Given the description of an element on the screen output the (x, y) to click on. 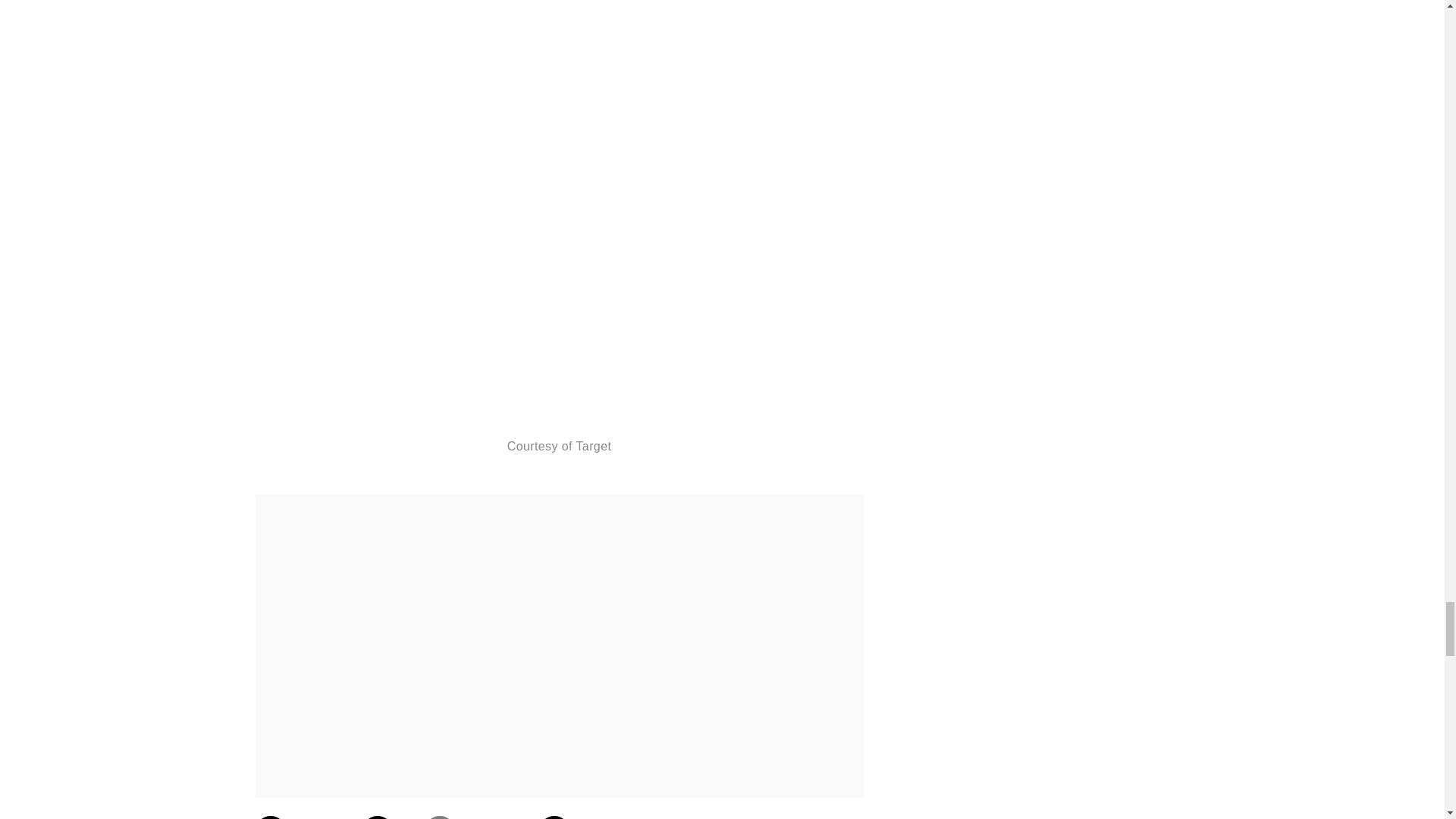
Share on Facebook (302, 817)
Share on Flipboard (585, 817)
Save to Pinterest (476, 817)
Share on X (387, 817)
